Given the description of an element on the screen output the (x, y) to click on. 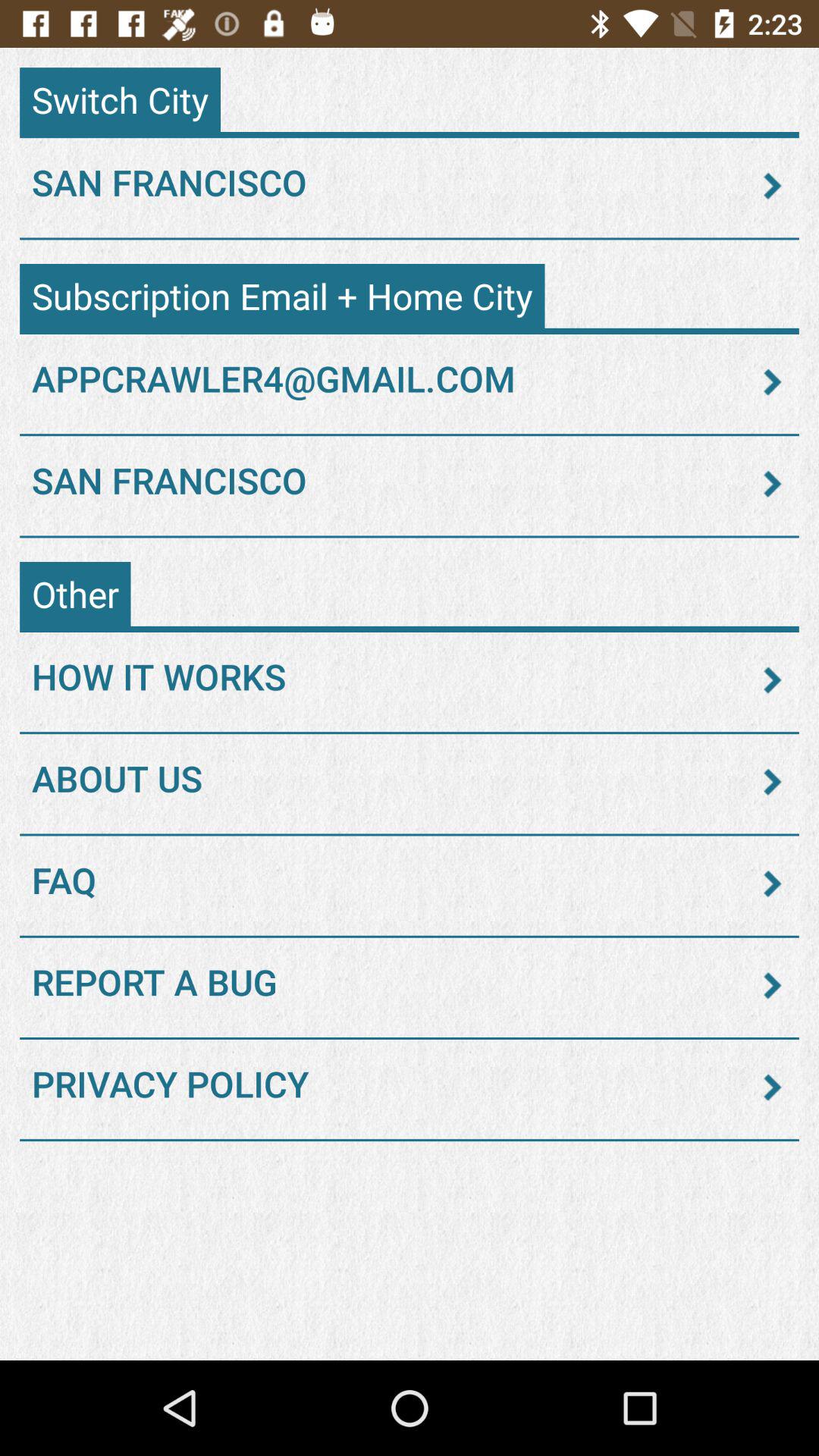
scroll to faq (409, 883)
